Given the description of an element on the screen output the (x, y) to click on. 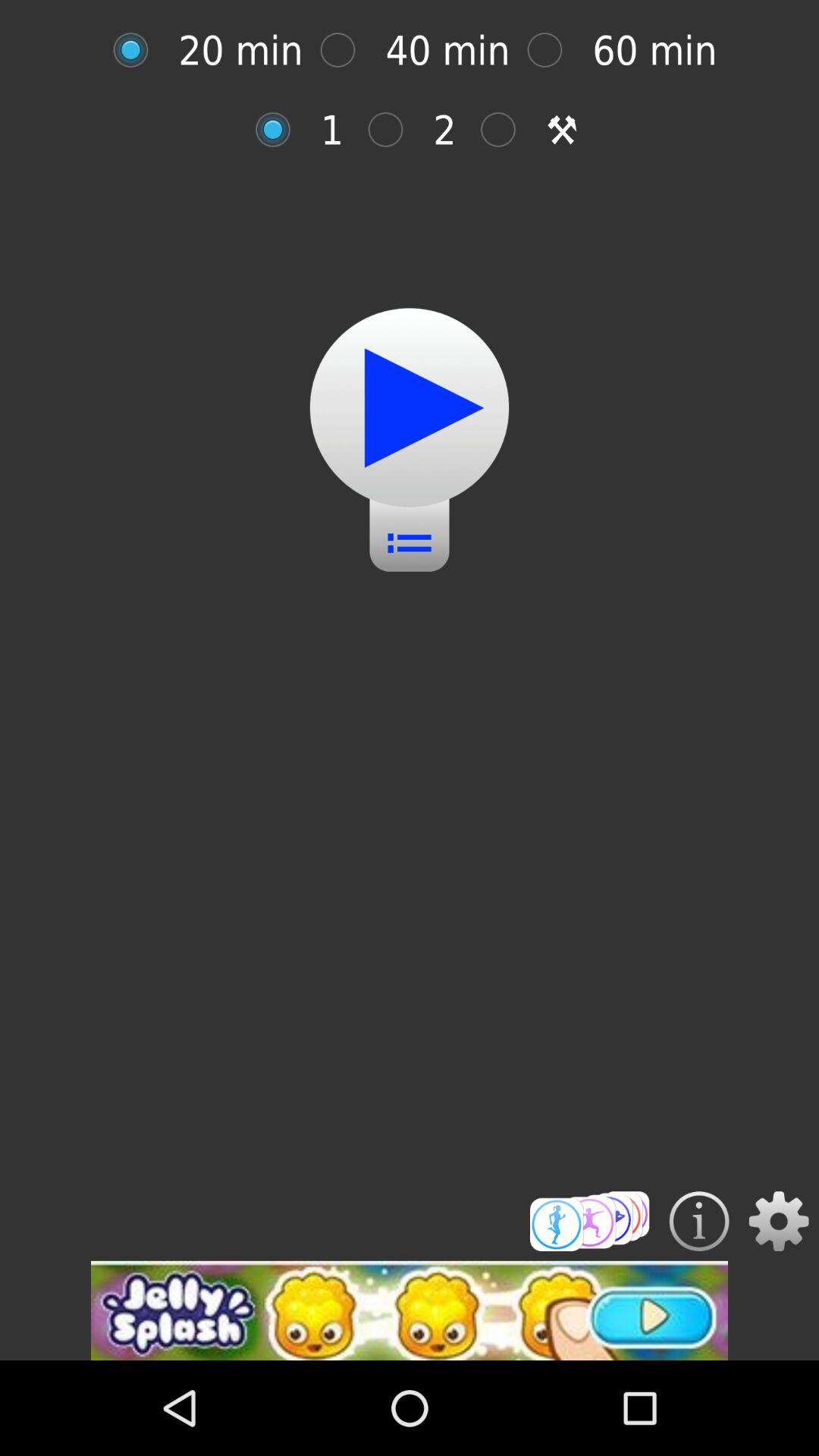
select this option (506, 129)
